Given the description of an element on the screen output the (x, y) to click on. 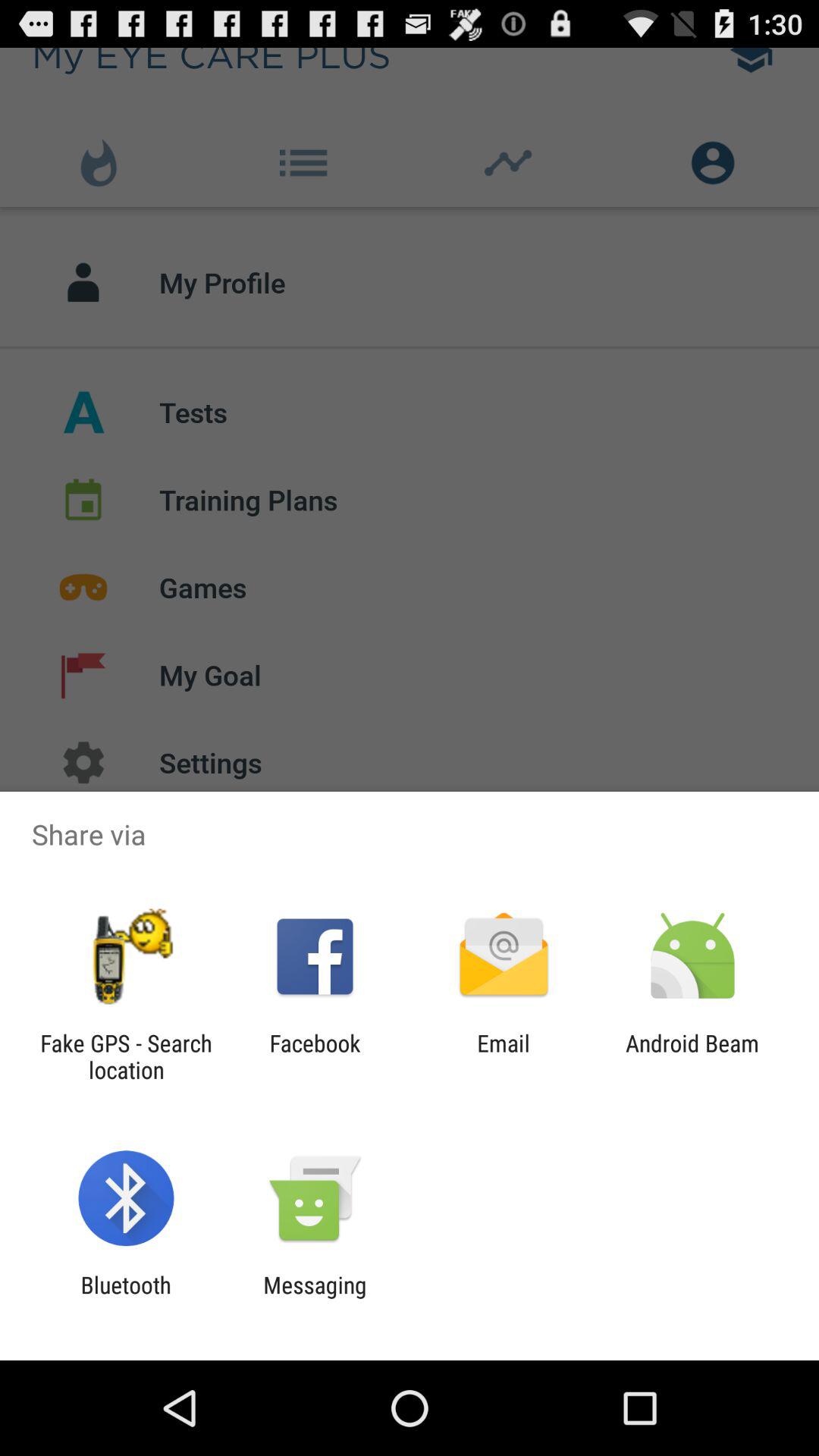
flip to messaging item (314, 1298)
